Given the description of an element on the screen output the (x, y) to click on. 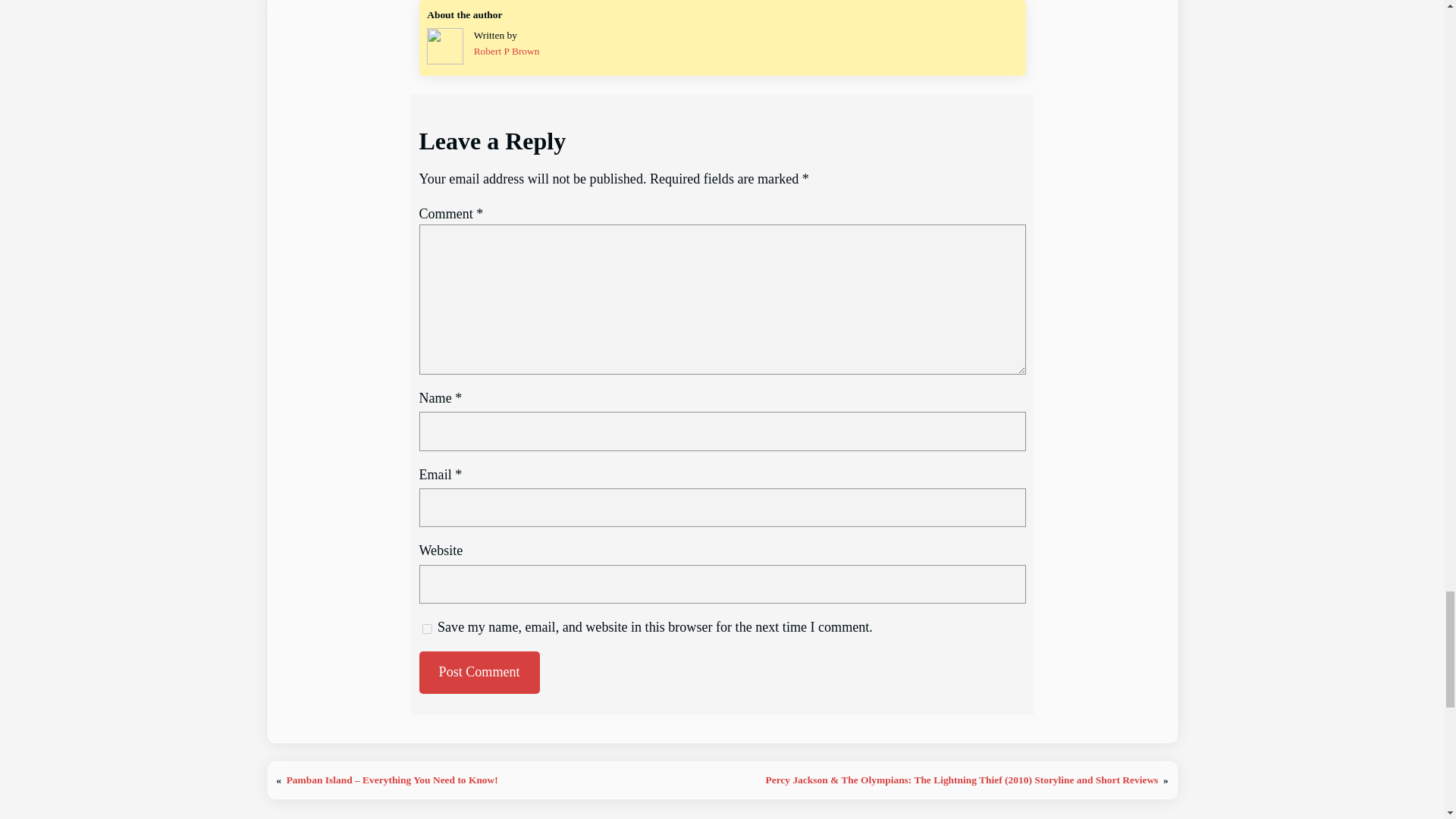
Post Comment (478, 671)
Post Comment (478, 671)
Robert P Brown (507, 50)
